Given the description of an element on the screen output the (x, y) to click on. 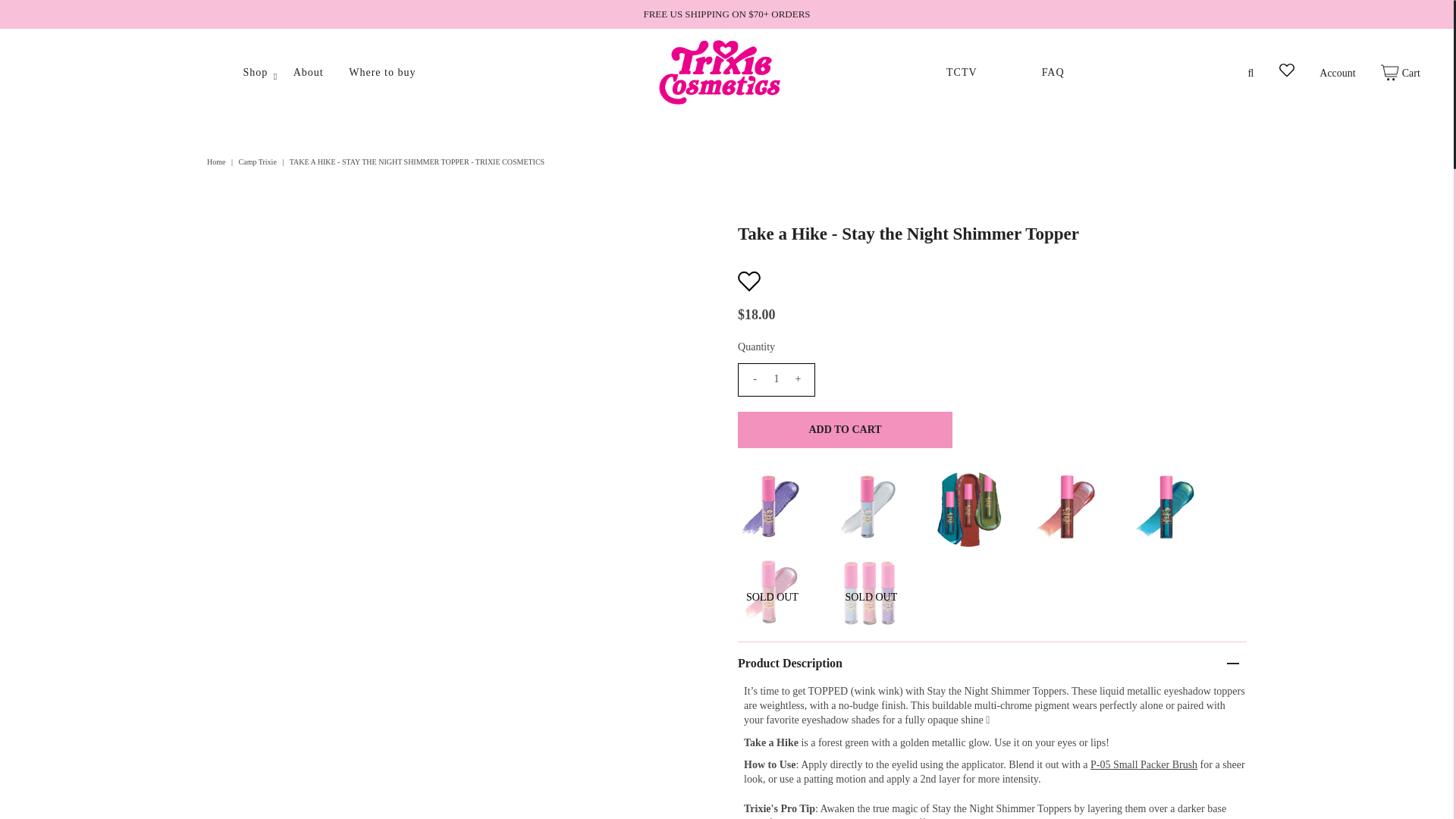
P-05 Small Packer Brush (1143, 764)
Shop (255, 72)
Add to Cart (845, 429)
Home (217, 162)
